Given the description of an element on the screen output the (x, y) to click on. 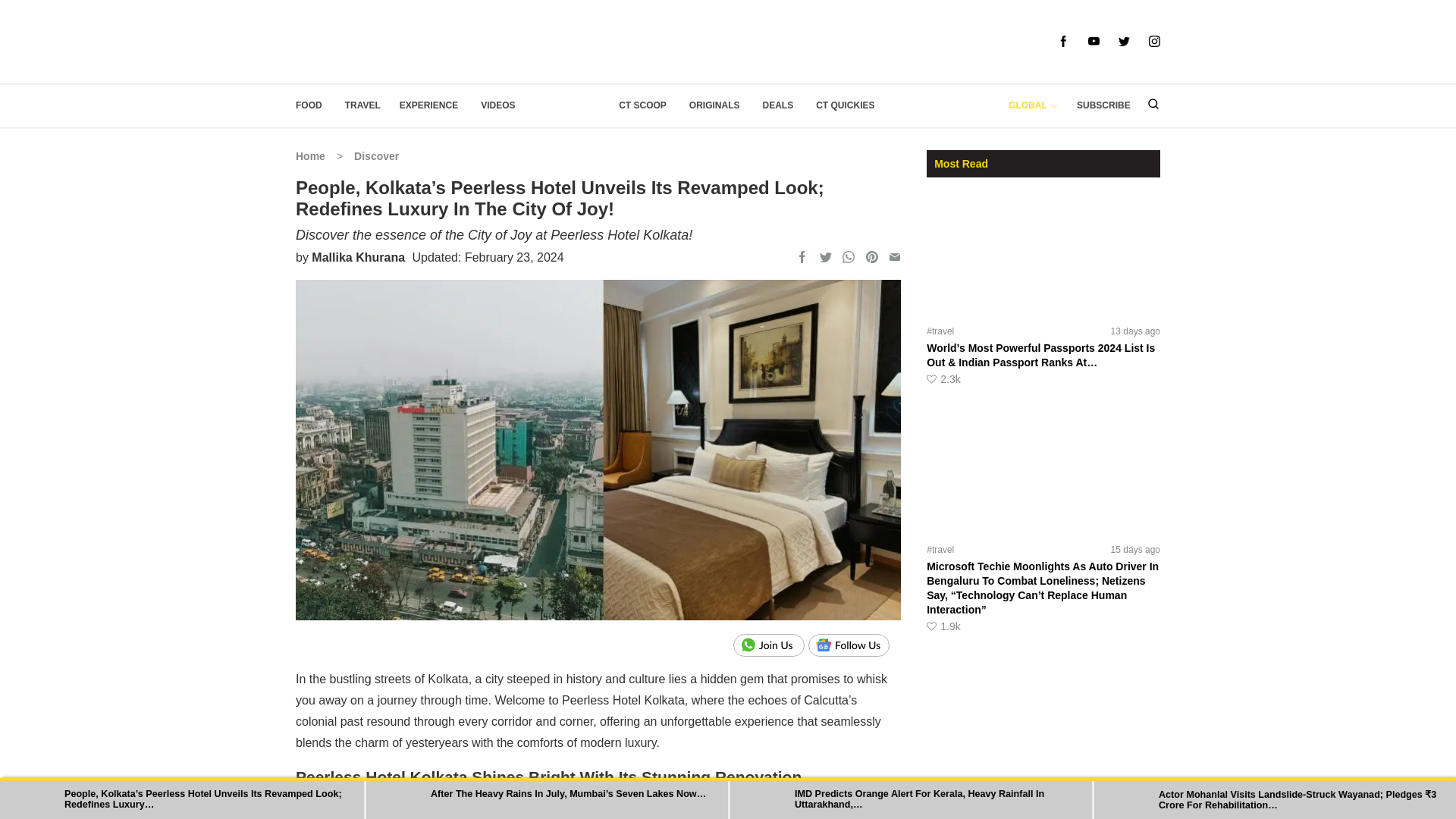
FOOD (308, 105)
